Given the description of an element on the screen output the (x, y) to click on. 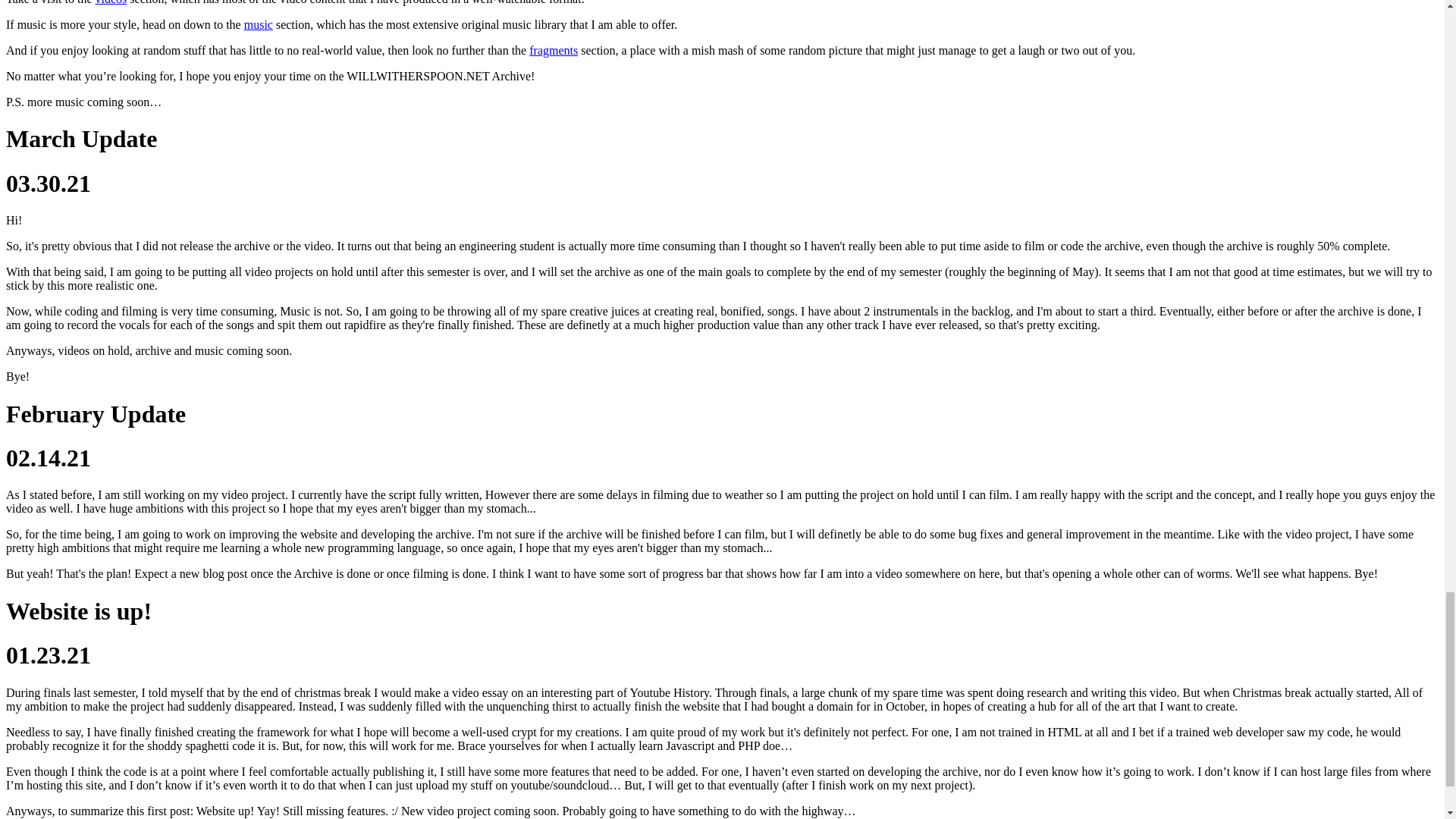
fragments (553, 50)
videos (112, 2)
music (258, 24)
